Given the description of an element on the screen output the (x, y) to click on. 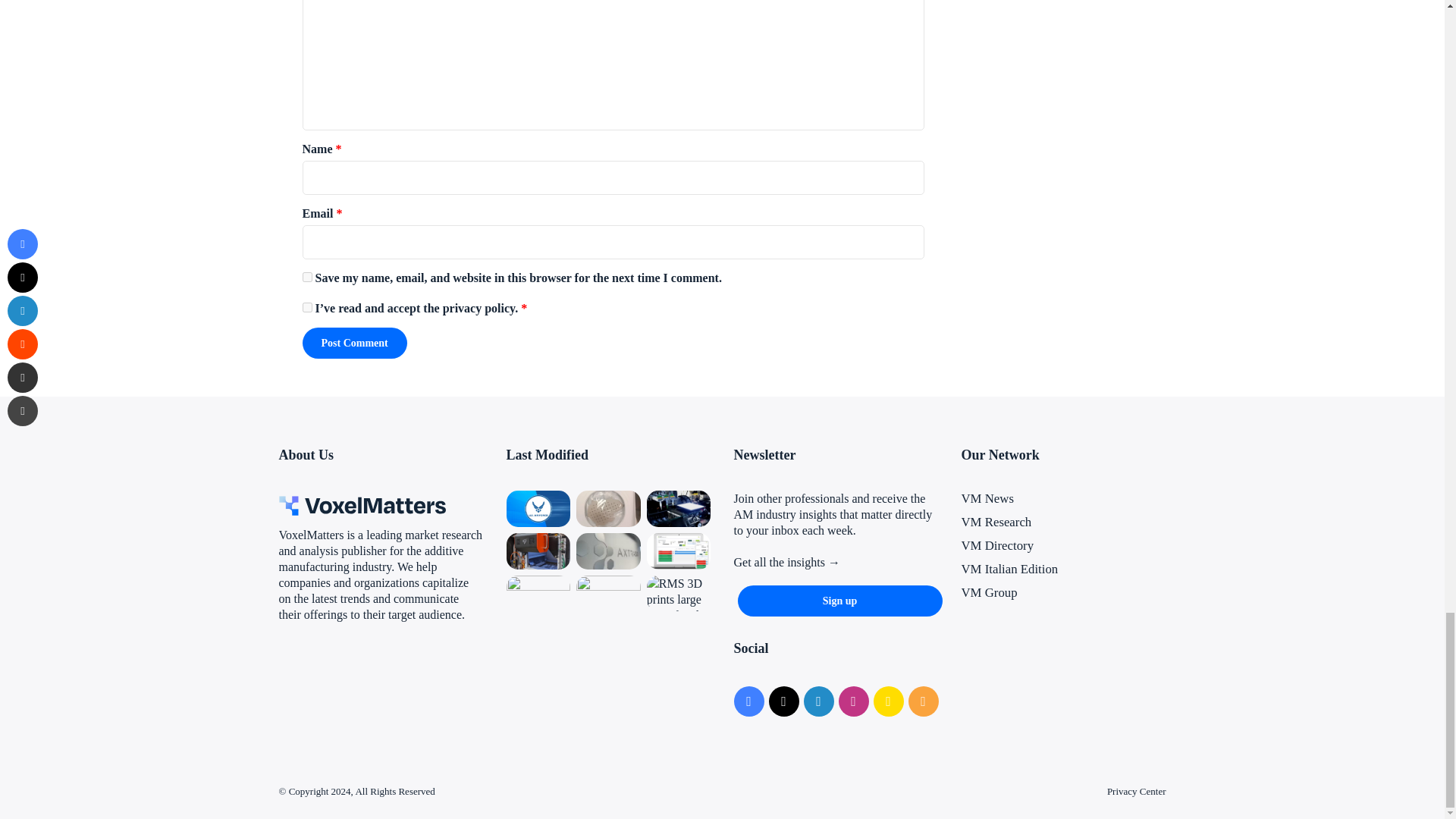
on (306, 307)
yes (306, 276)
Sign up (839, 600)
Post Comment (353, 342)
